Given the description of an element on the screen output the (x, y) to click on. 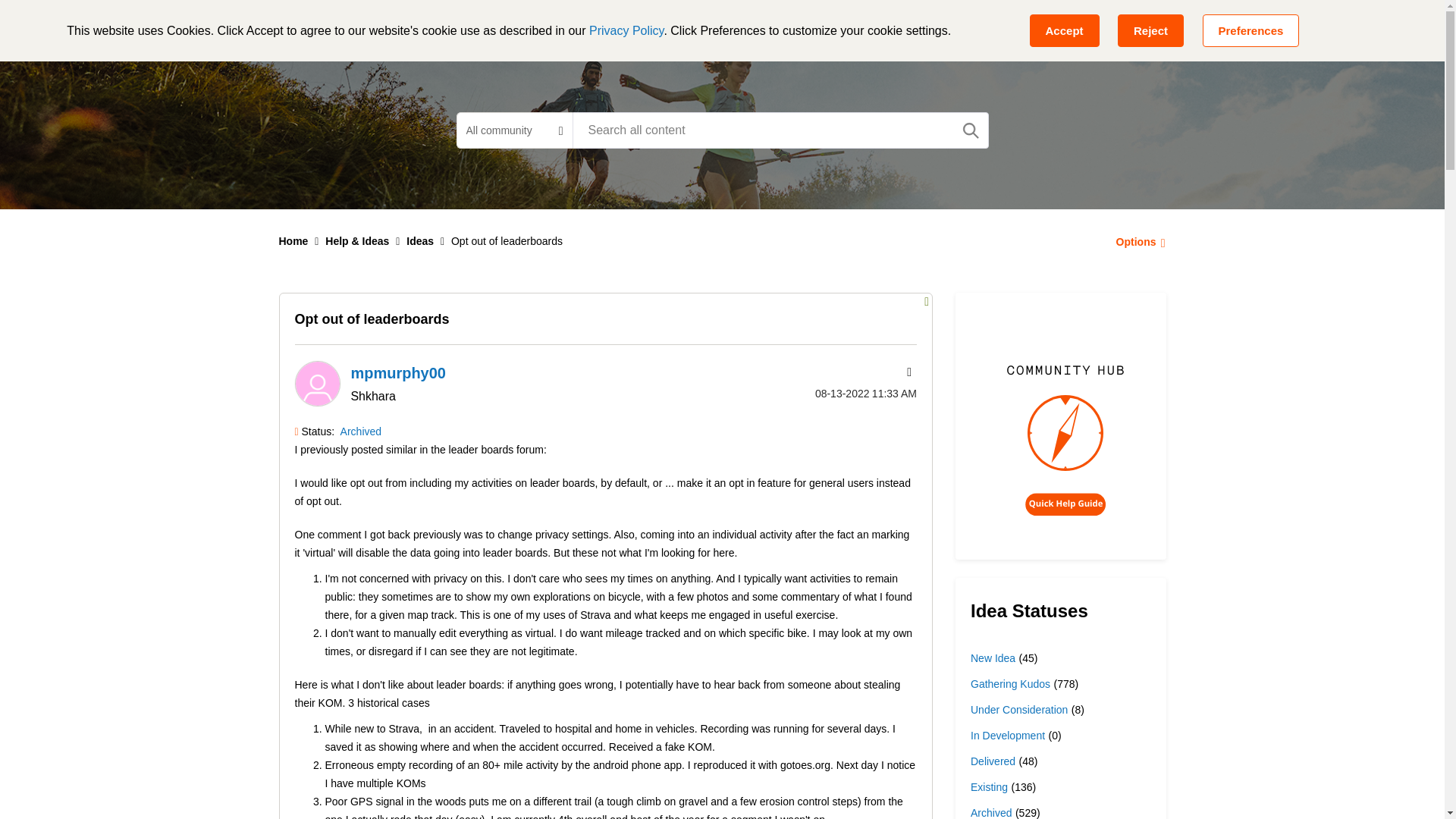
Home (293, 241)
Posted on (845, 393)
Options (1136, 241)
Developers (680, 25)
Search (970, 130)
Privacy Policy (626, 30)
Show option menu (1136, 241)
Ideas (419, 241)
Reject (1150, 30)
Search (970, 130)
Search (780, 130)
Basecamp (497, 25)
The Club Hub (778, 25)
Preferences (1251, 30)
mpmurphy00 (316, 383)
